Given the description of an element on the screen output the (x, y) to click on. 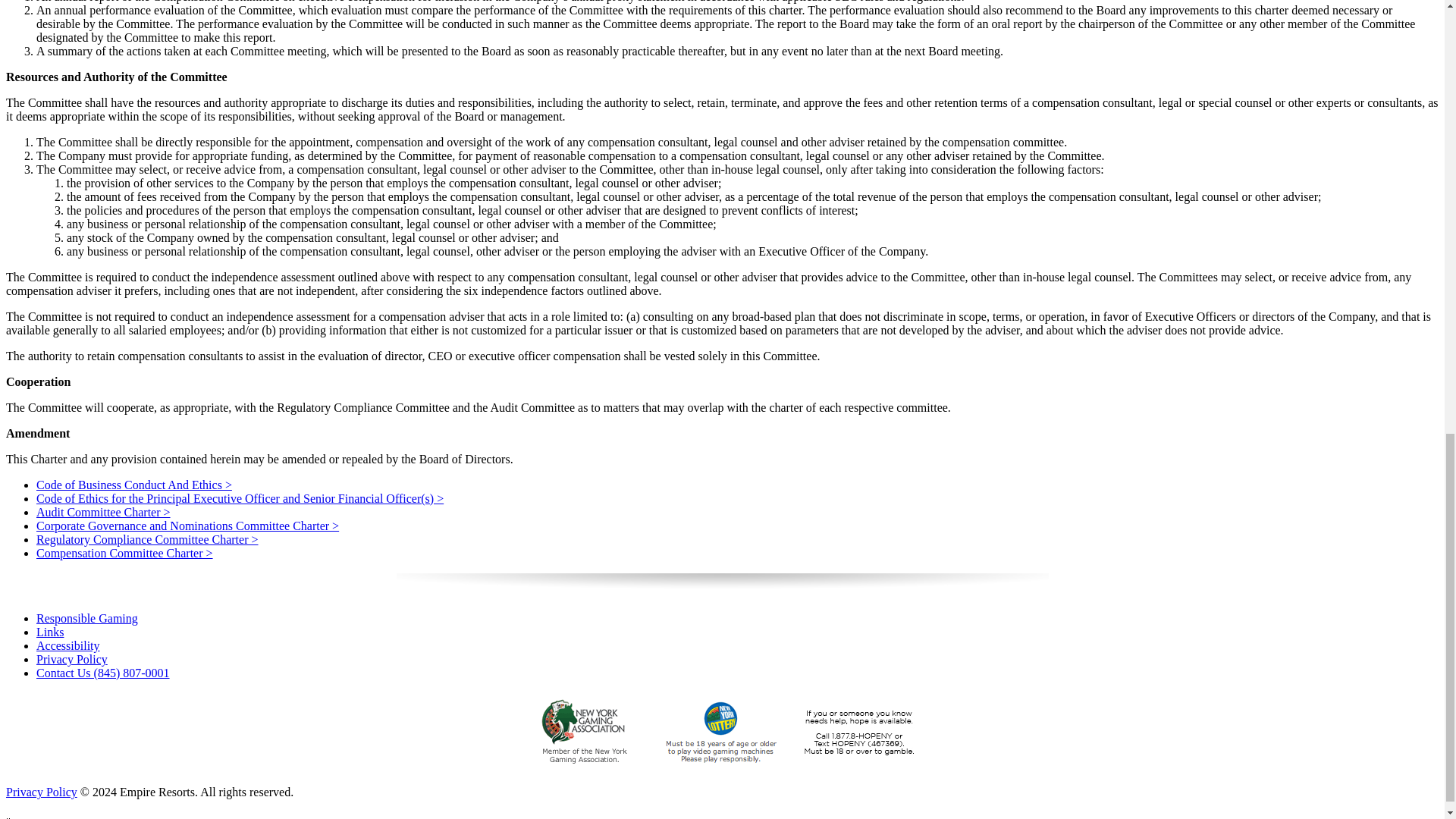
Privacy Policy (71, 658)
Responsible Gaming (87, 617)
Accessibility (68, 645)
Privacy Policy (41, 791)
Links (50, 631)
